Given the description of an element on the screen output the (x, y) to click on. 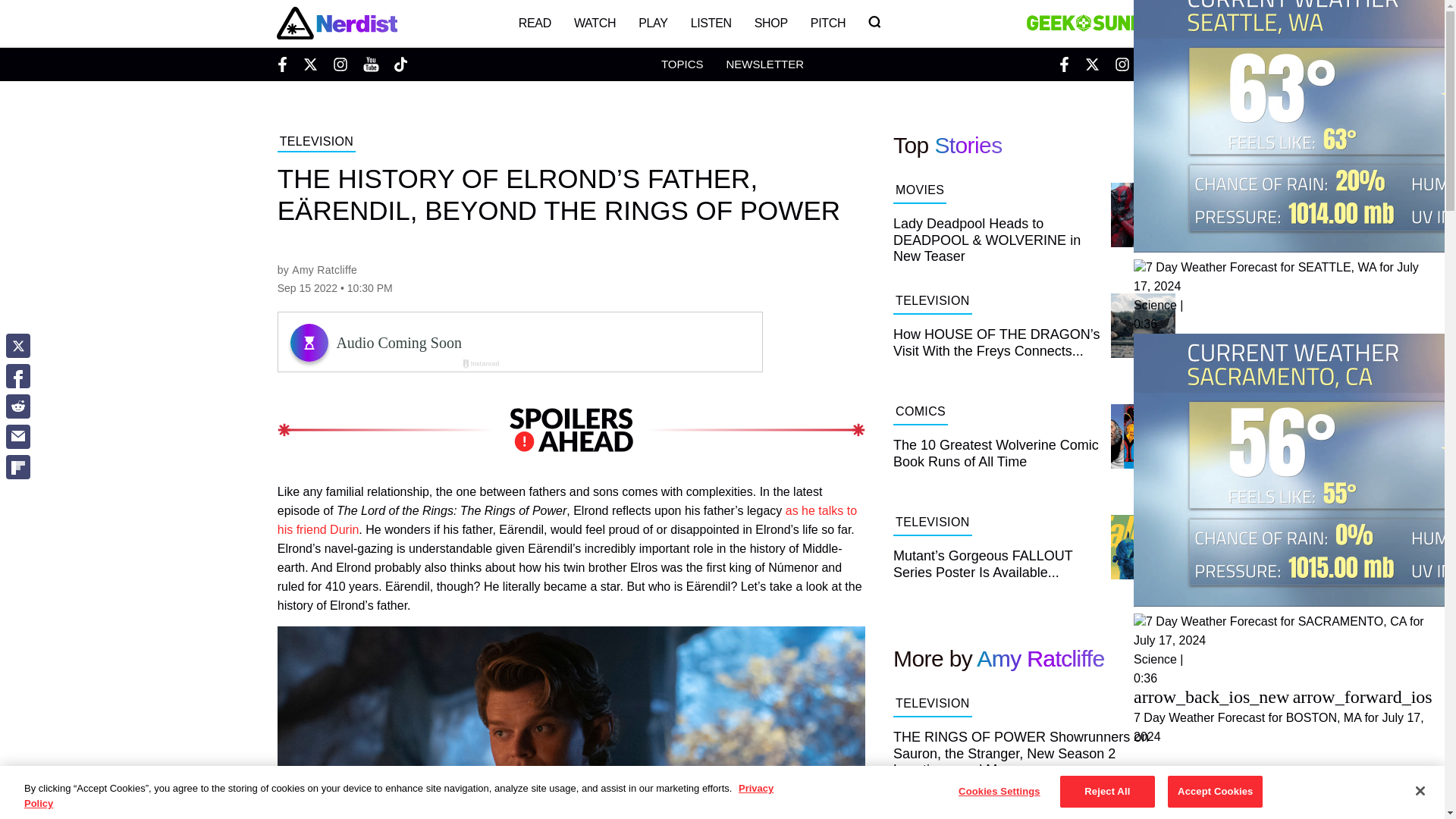
PITCH (828, 22)
Facebook Nerdist (285, 63)
NEWSLETTER (764, 63)
TOPICS (681, 63)
SHOP (770, 22)
WATCH (594, 22)
LISTEN (710, 22)
Twitter Nerdist (309, 63)
READ (534, 22)
Nerdist (336, 23)
READ (534, 22)
TELEVISION (316, 143)
Topics (681, 63)
TikTok Nerdist (400, 63)
Youtube Nerdist (370, 63)
